Given the description of an element on the screen output the (x, y) to click on. 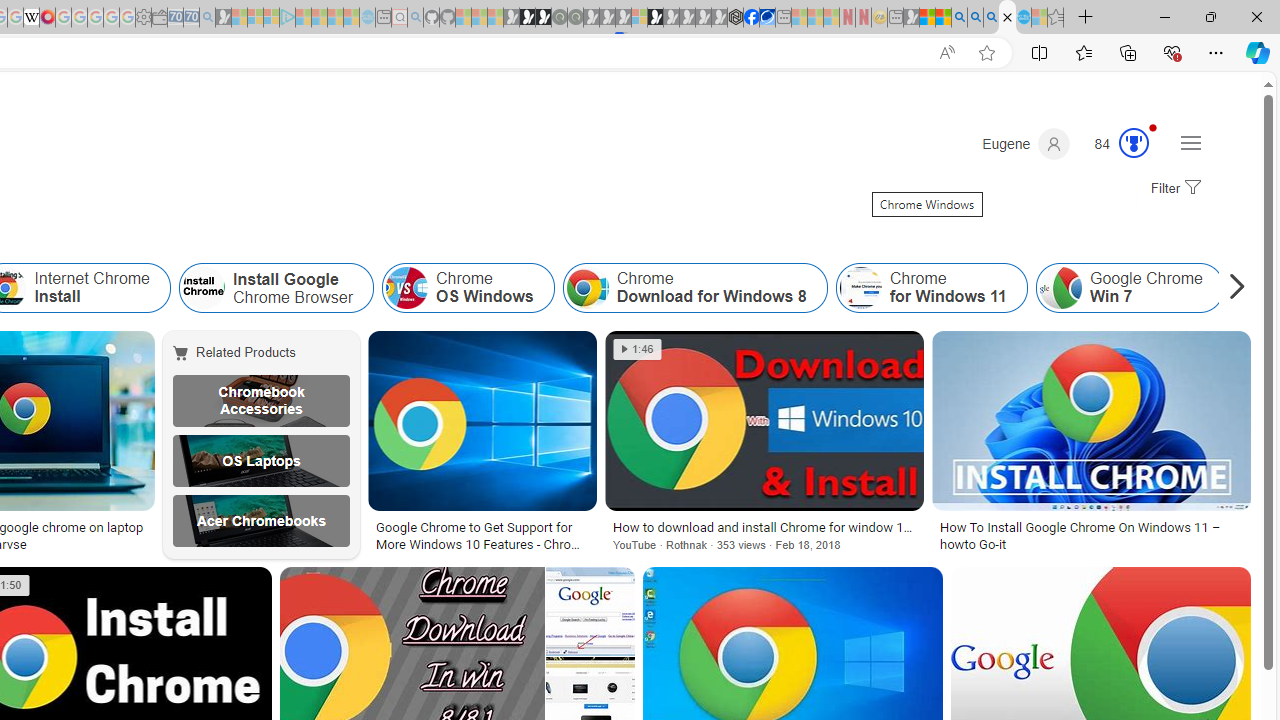
Cheap Car Rentals - Save70.com - Sleeping (191, 17)
Chrome OS Laptops (260, 460)
Bing AI - Search (959, 17)
Play Zoo Boom in your browser | Games from Microsoft Start (527, 17)
Chrome Download for Windows 8 (694, 287)
New tab - Sleeping (895, 17)
Latest Google Chrome Free Download (1256, 287)
Image result for Chrome Windows (590, 611)
